Given the description of an element on the screen output the (x, y) to click on. 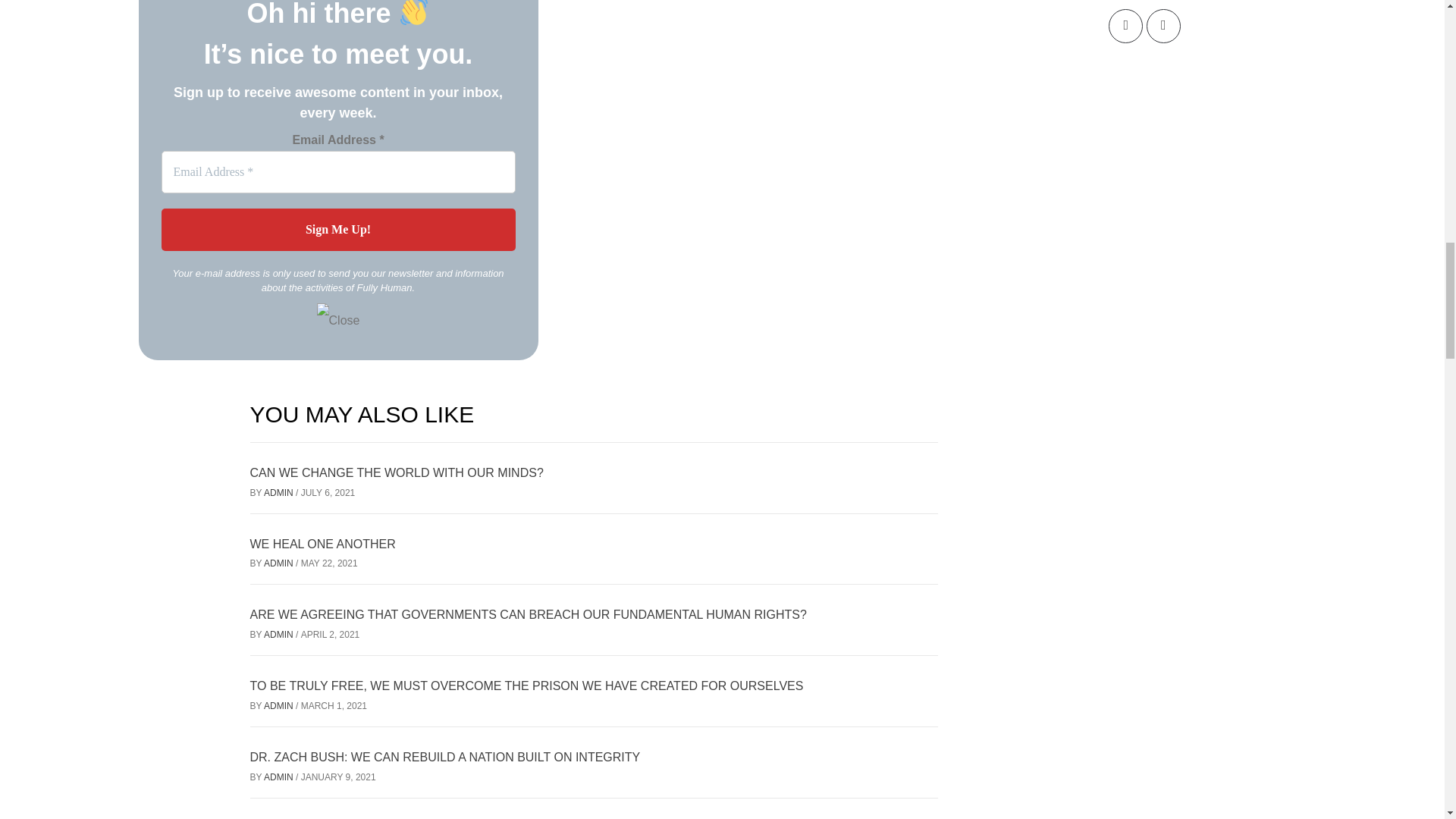
Sign Me Up! (337, 229)
DR. ZACH BUSH: WE CAN REBUILD A NATION BUILT ON INTEGRITY (445, 757)
ADMIN (279, 634)
Sign Me Up! (337, 229)
ADMIN (279, 492)
CAN WE CHANGE THE WORLD WITH OUR MINDS? (396, 472)
ADMIN (279, 562)
Email Address (337, 171)
